Given the description of an element on the screen output the (x, y) to click on. 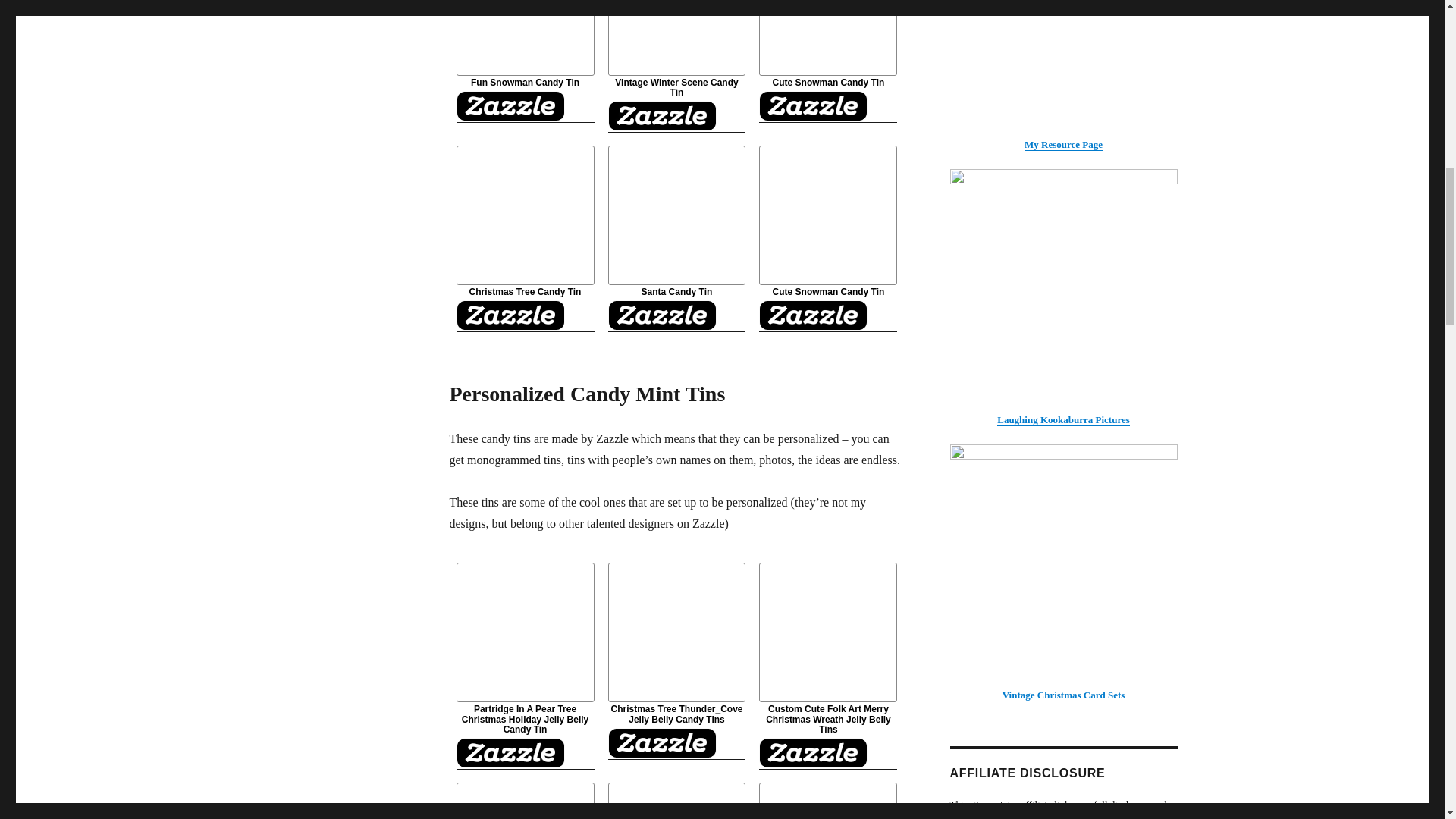
 Fun Snowman Candy Tin (525, 61)
Cute Snowman Candy Tin (827, 61)
Fun Snowman Candy Tin (525, 61)
Nutcrackers group on red jelly belly candy tins (827, 800)
Vintage Winter Scene Candy Tin (676, 65)
 Joy to The World Christmas Typography Music Notes Candy Tin (525, 800)
My Resource Page (1062, 74)
 Nutcrackers group on red jelly belly candy tins (827, 800)
 Vintage Winter Scene Candy Tin (676, 65)
Joy to The World Christmas Typography Music Notes Candy Tin (525, 800)
